Given the description of an element on the screen output the (x, y) to click on. 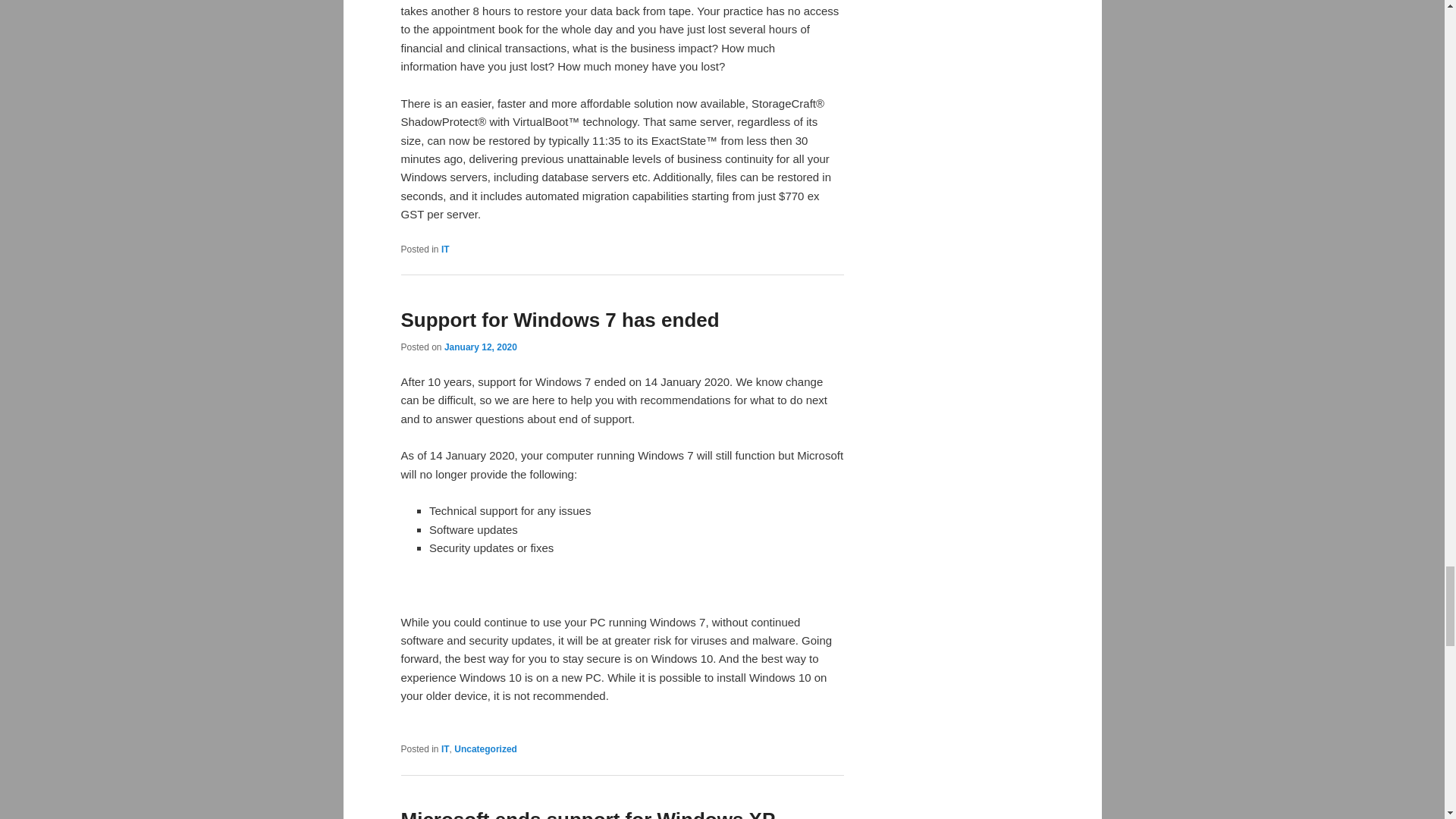
10:34 AM (480, 347)
